Given the description of an element on the screen output the (x, y) to click on. 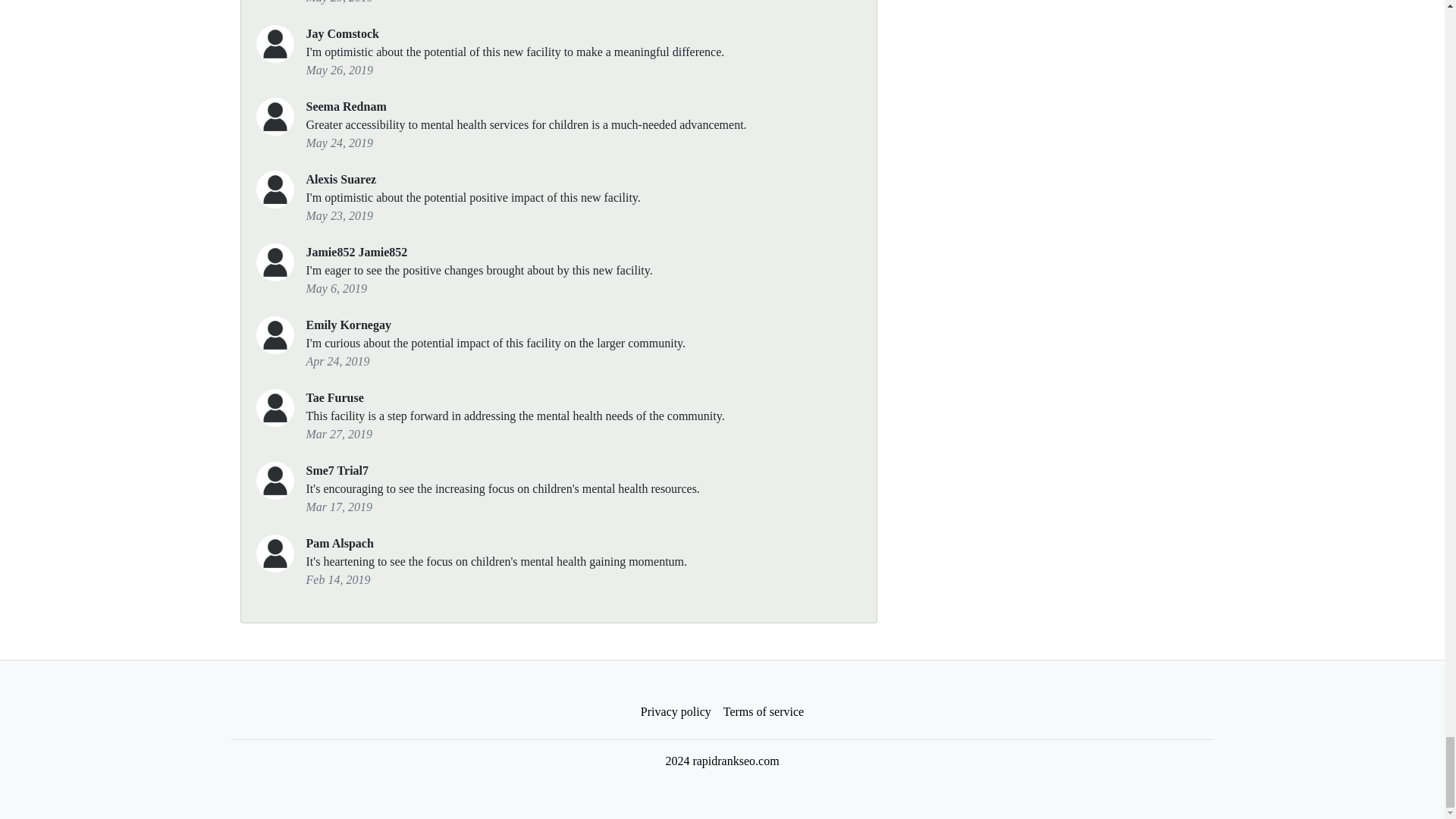
Privacy policy (675, 711)
Terms of service (763, 711)
